Given the description of an element on the screen output the (x, y) to click on. 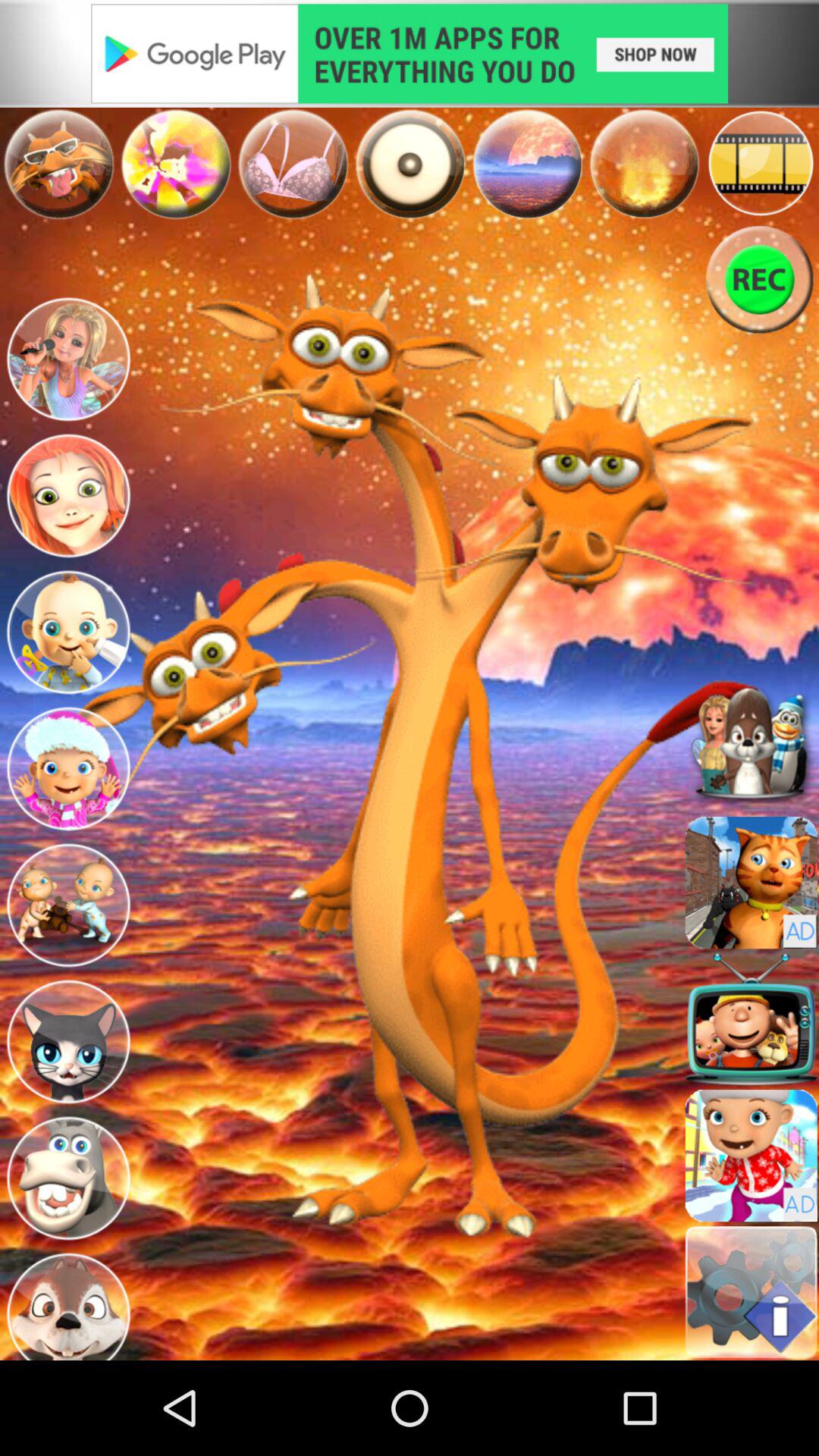
choose an avatar (68, 495)
